Given the description of an element on the screen output the (x, y) to click on. 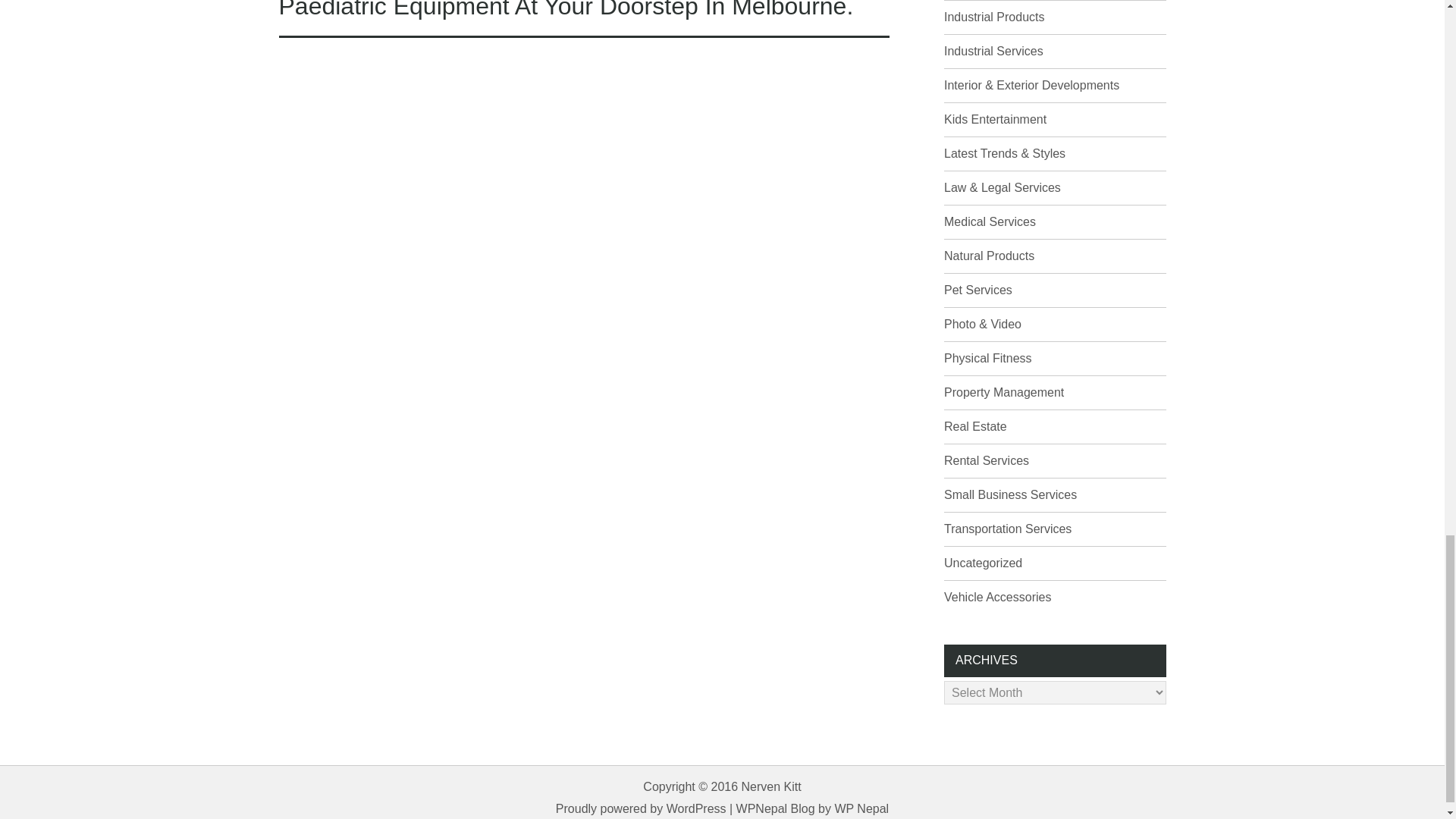
Industrial Products (994, 16)
Industrial Services (993, 51)
